Given the description of an element on the screen output the (x, y) to click on. 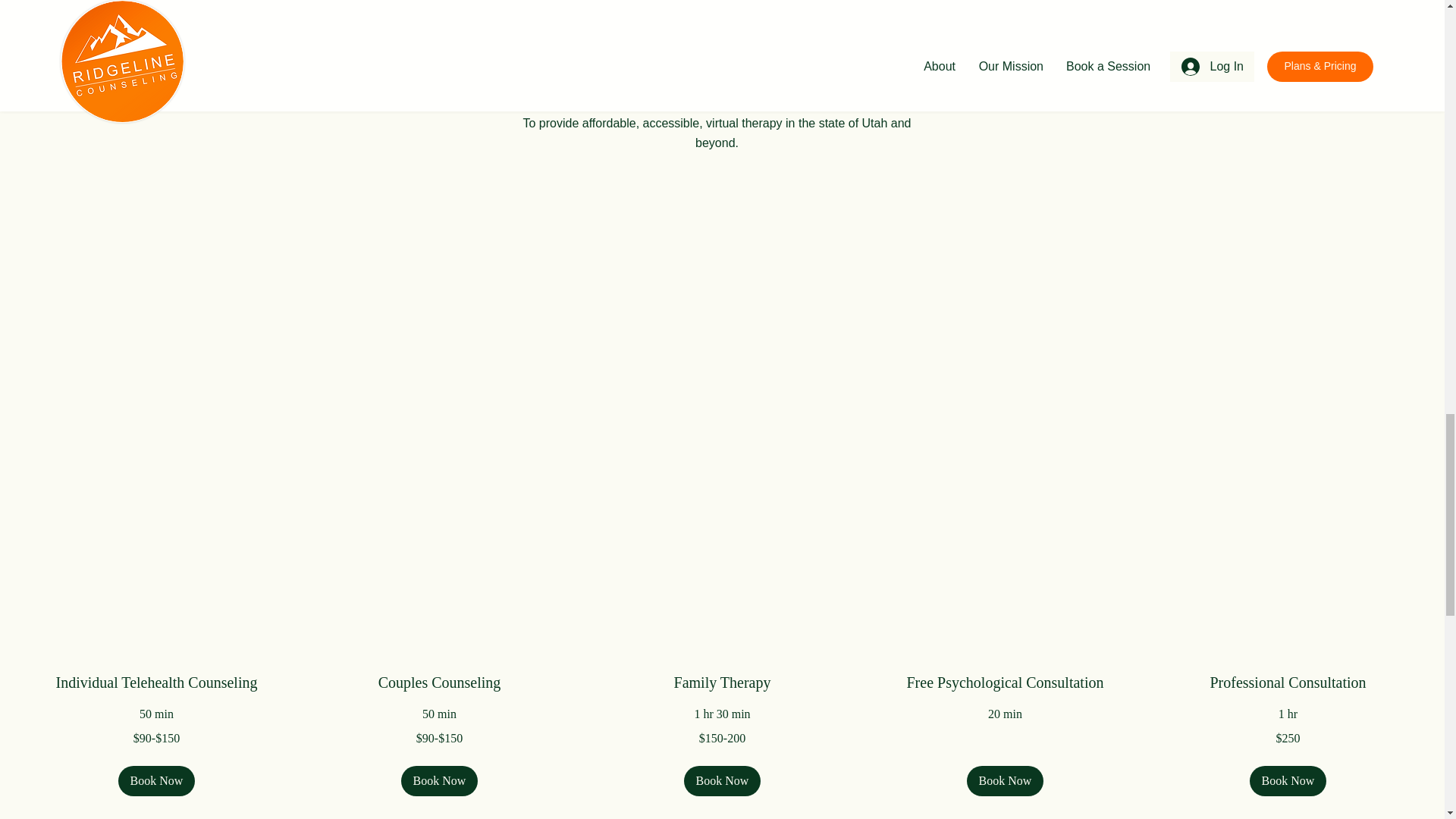
Book Now (1004, 780)
Professional Consultation (1287, 682)
Couples Counseling (438, 682)
Book Now (1287, 780)
Book Now (156, 780)
Book Now (722, 780)
Individual Telehealth Counseling (156, 682)
Book Now (440, 780)
Free Psychological Consultation (1005, 682)
Family Therapy (722, 682)
